Given the description of an element on the screen output the (x, y) to click on. 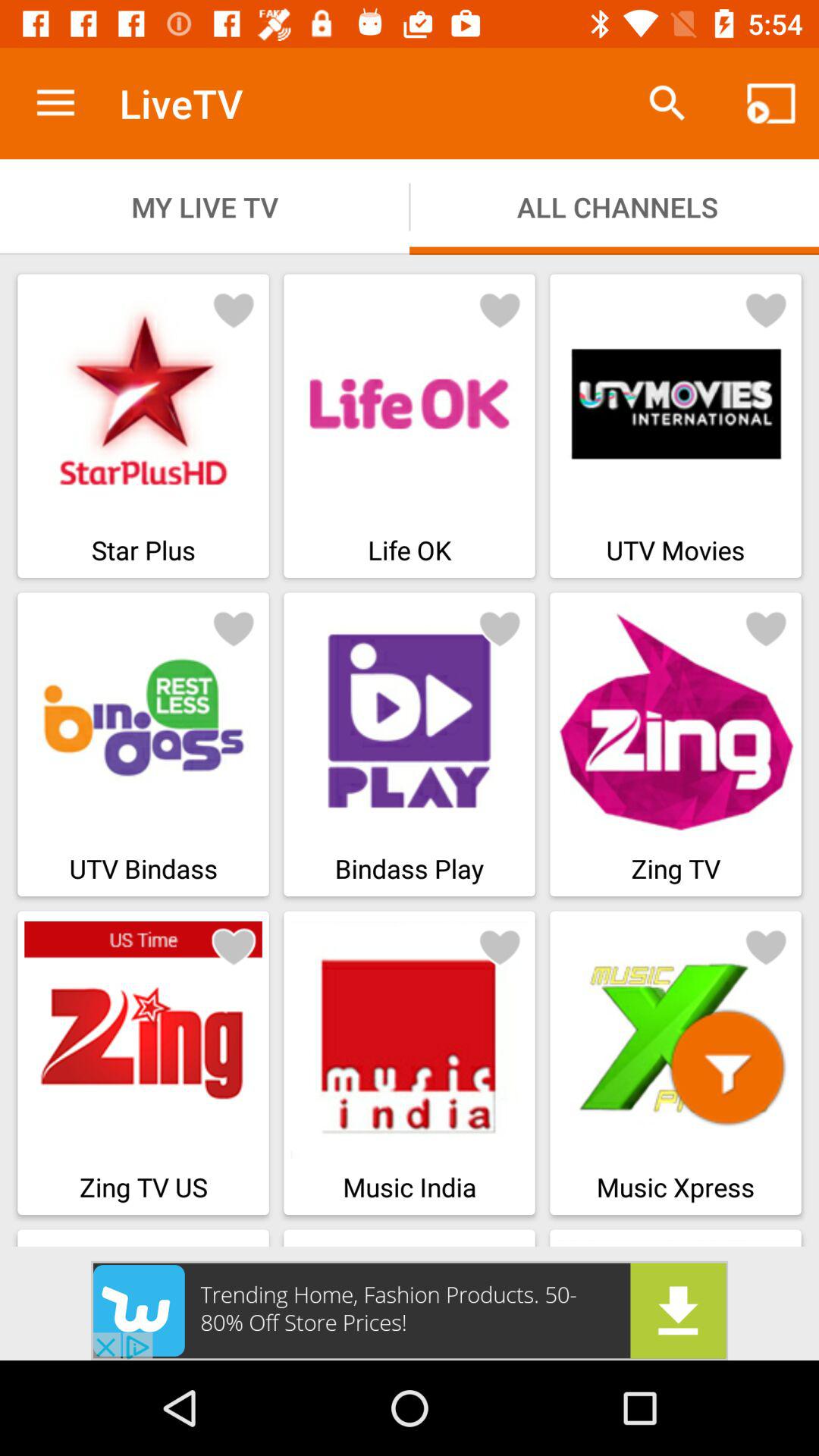
add to favourite (499, 309)
